Given the description of an element on the screen output the (x, y) to click on. 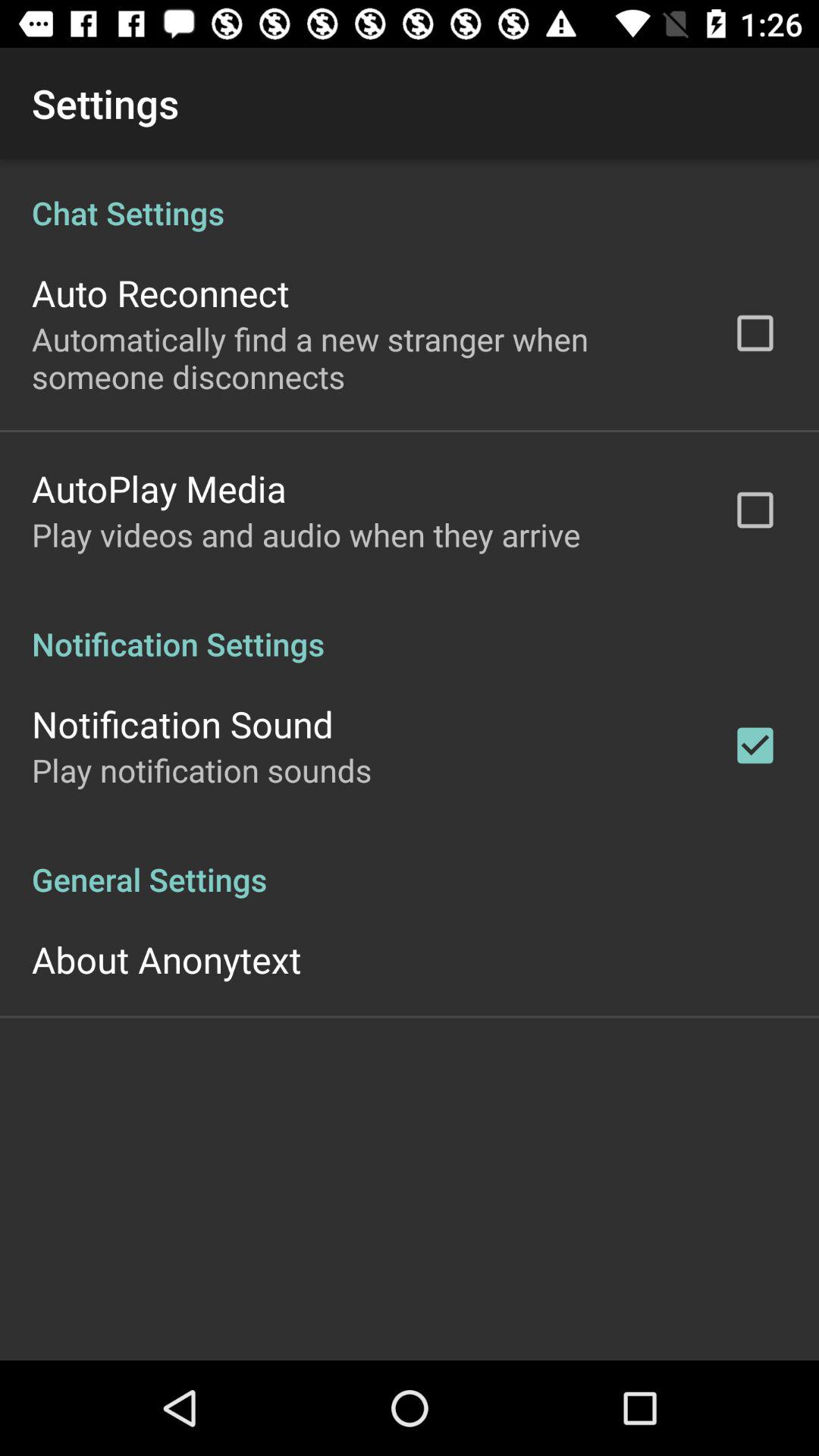
scroll until the play notification sounds icon (201, 769)
